Given the description of an element on the screen output the (x, y) to click on. 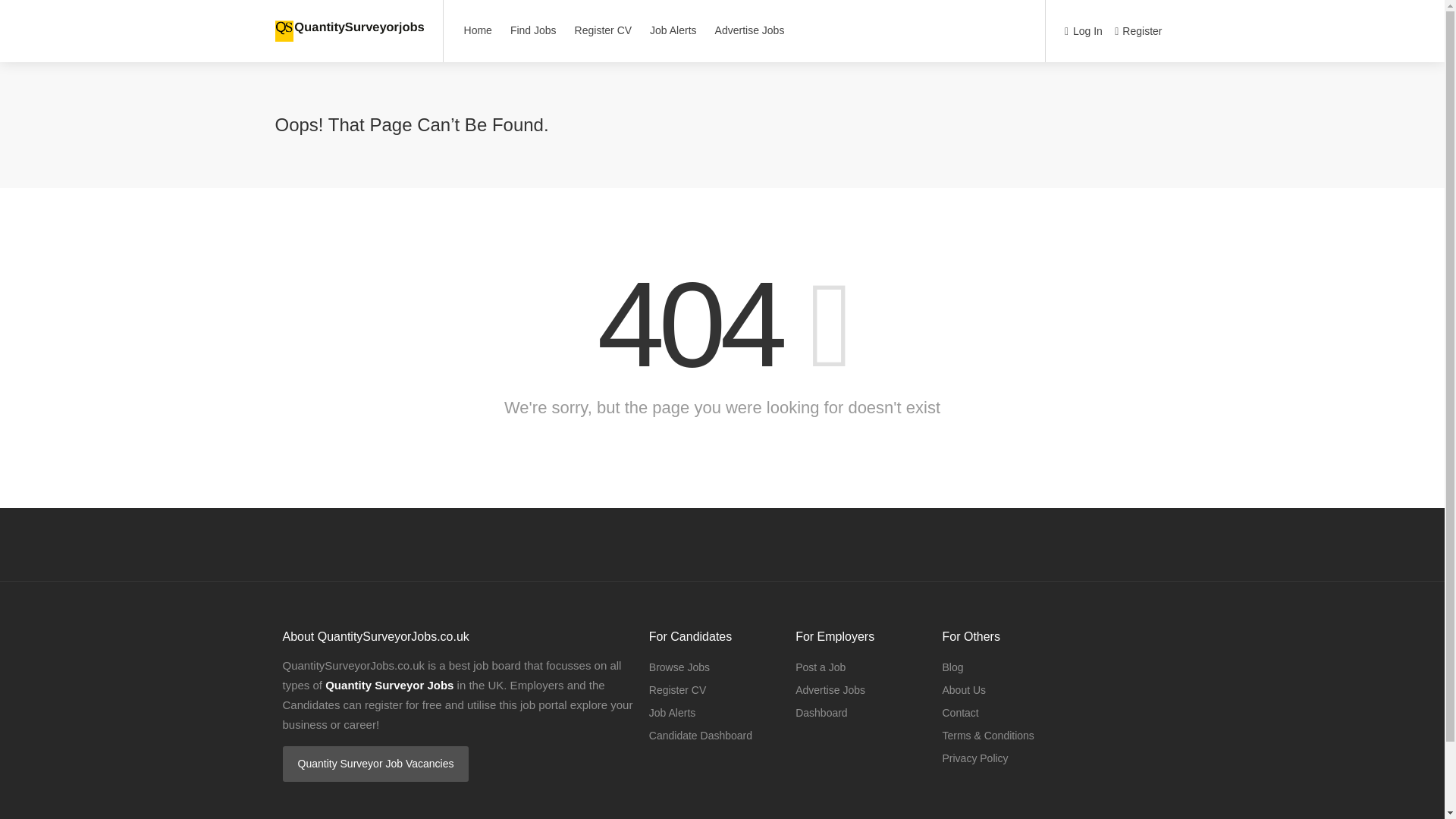
Log In (1083, 31)
Blog (952, 667)
Register CV (677, 690)
Dashboard (820, 712)
Advertise Jobs (829, 690)
Register (1138, 31)
Quantity Surveyor Job Vacancies (375, 764)
Browse Jobs (679, 667)
Post a Job (819, 667)
Privacy Policy (974, 758)
